Given the description of an element on the screen output the (x, y) to click on. 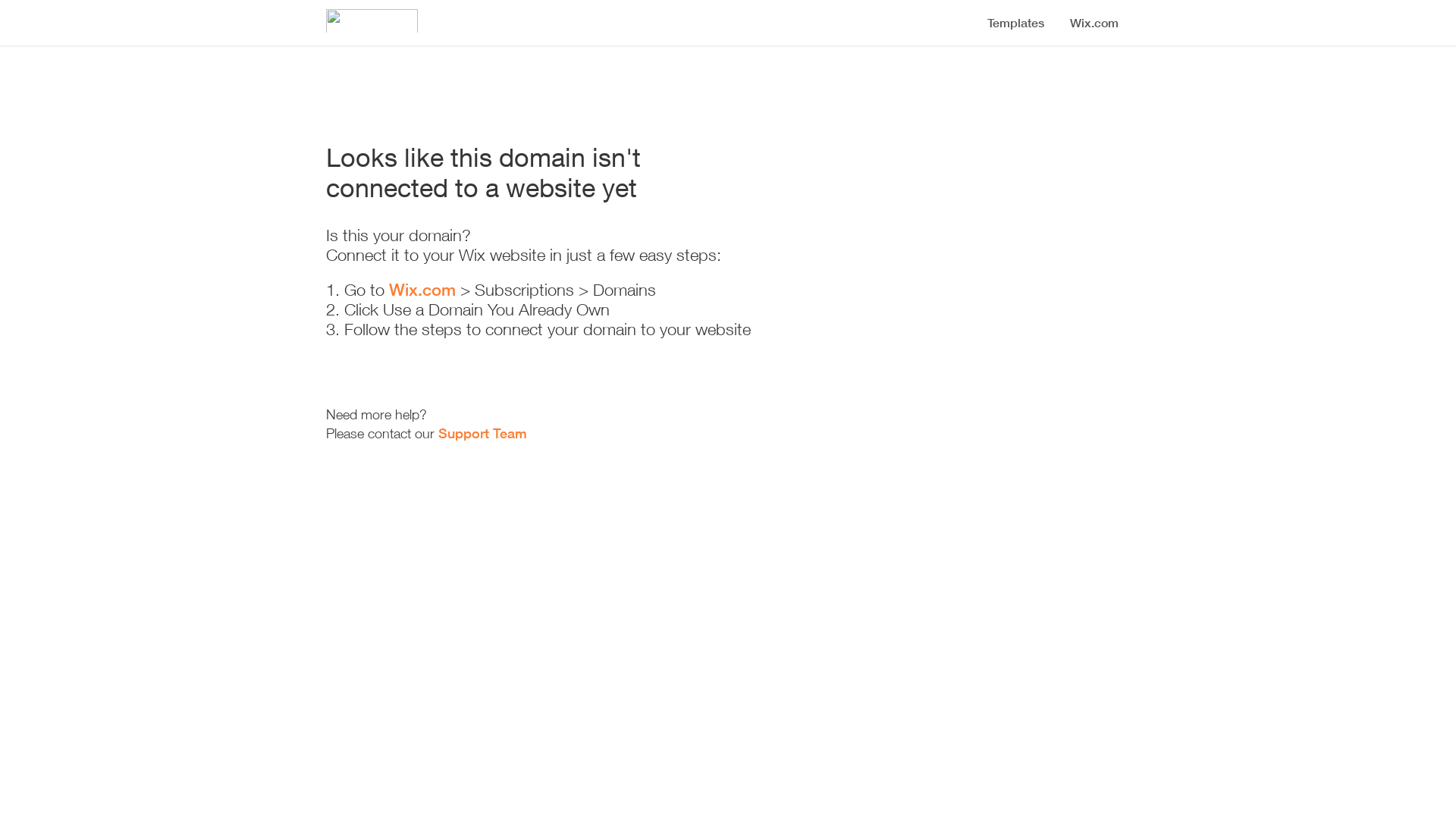
Wix.com Element type: text (422, 289)
Support Team Element type: text (482, 432)
